Given the description of an element on the screen output the (x, y) to click on. 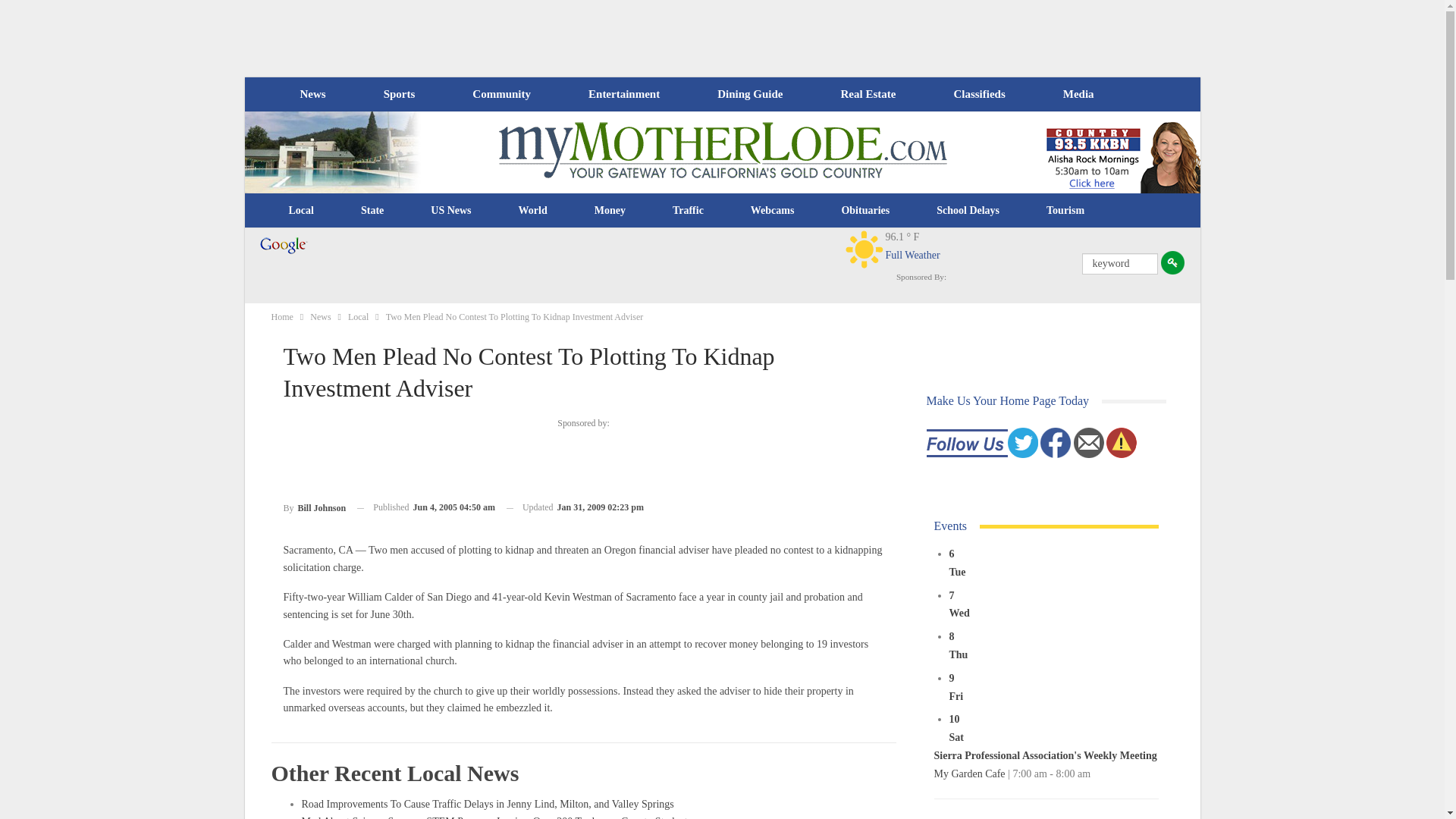
Traffic (687, 210)
State (372, 210)
Dining Guide (749, 93)
Money (609, 210)
US News (451, 210)
keyword (1119, 263)
Real Estate (868, 93)
Browse Author Articles (314, 507)
